Given the description of an element on the screen output the (x, y) to click on. 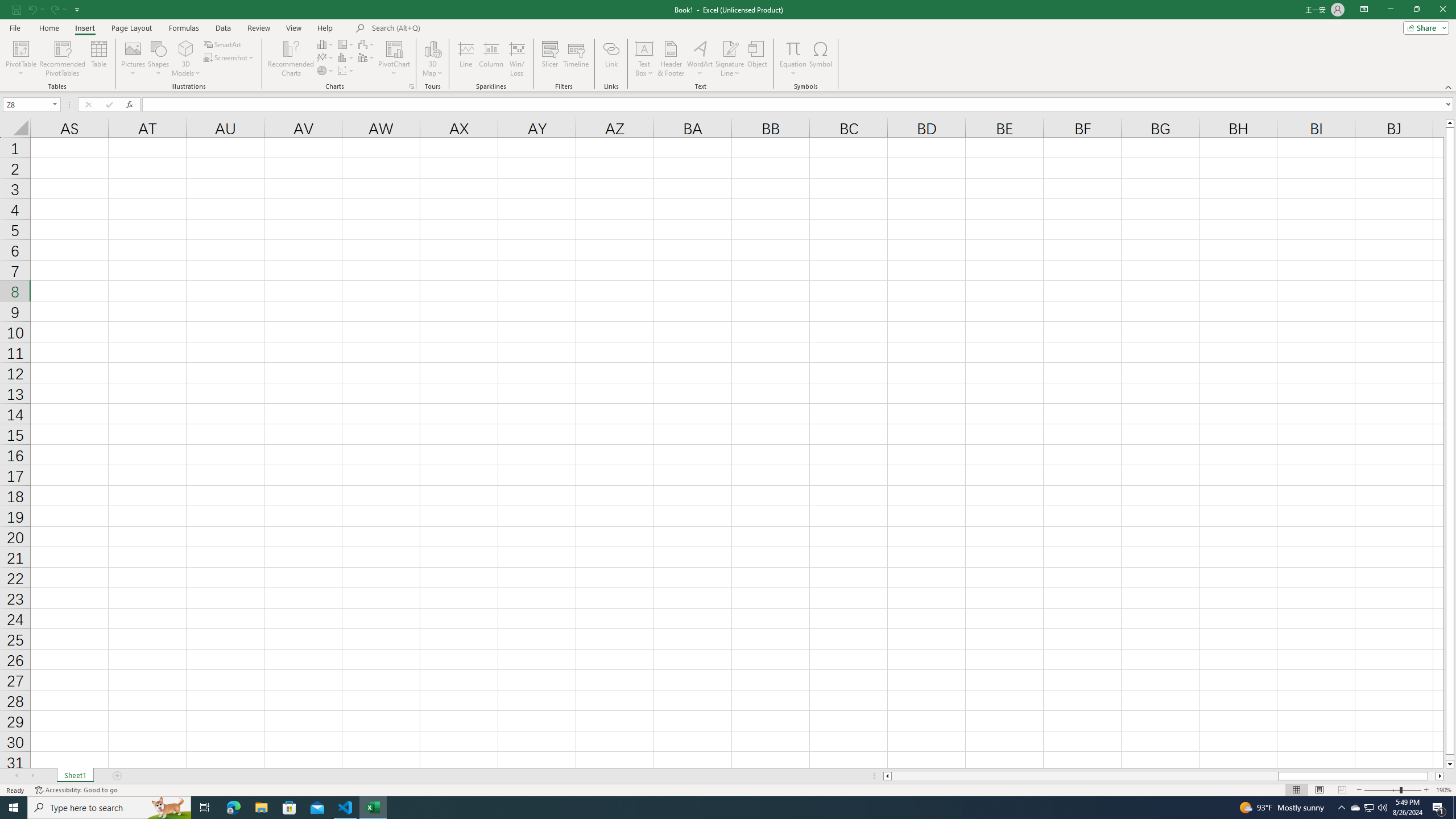
Timeline (575, 58)
Line (465, 58)
Text Box (643, 58)
3D Models (186, 58)
Signature Line (729, 58)
